Given the description of an element on the screen output the (x, y) to click on. 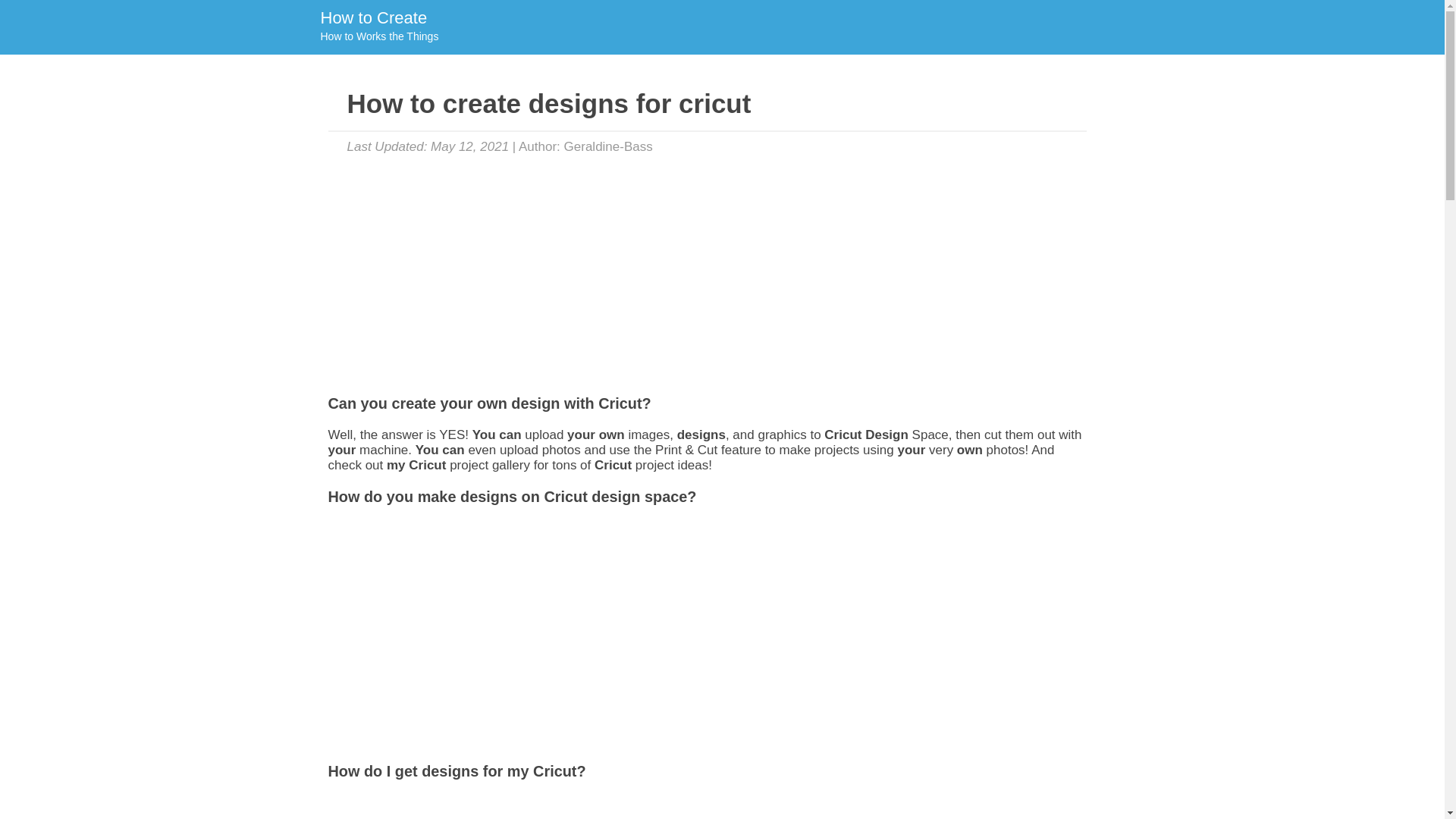
Geraldine-Bass (608, 146)
UPLOAD IMAGES TO CRICUT DESIGN SPACE FOR FREE (526, 807)
